Given the description of an element on the screen output the (x, y) to click on. 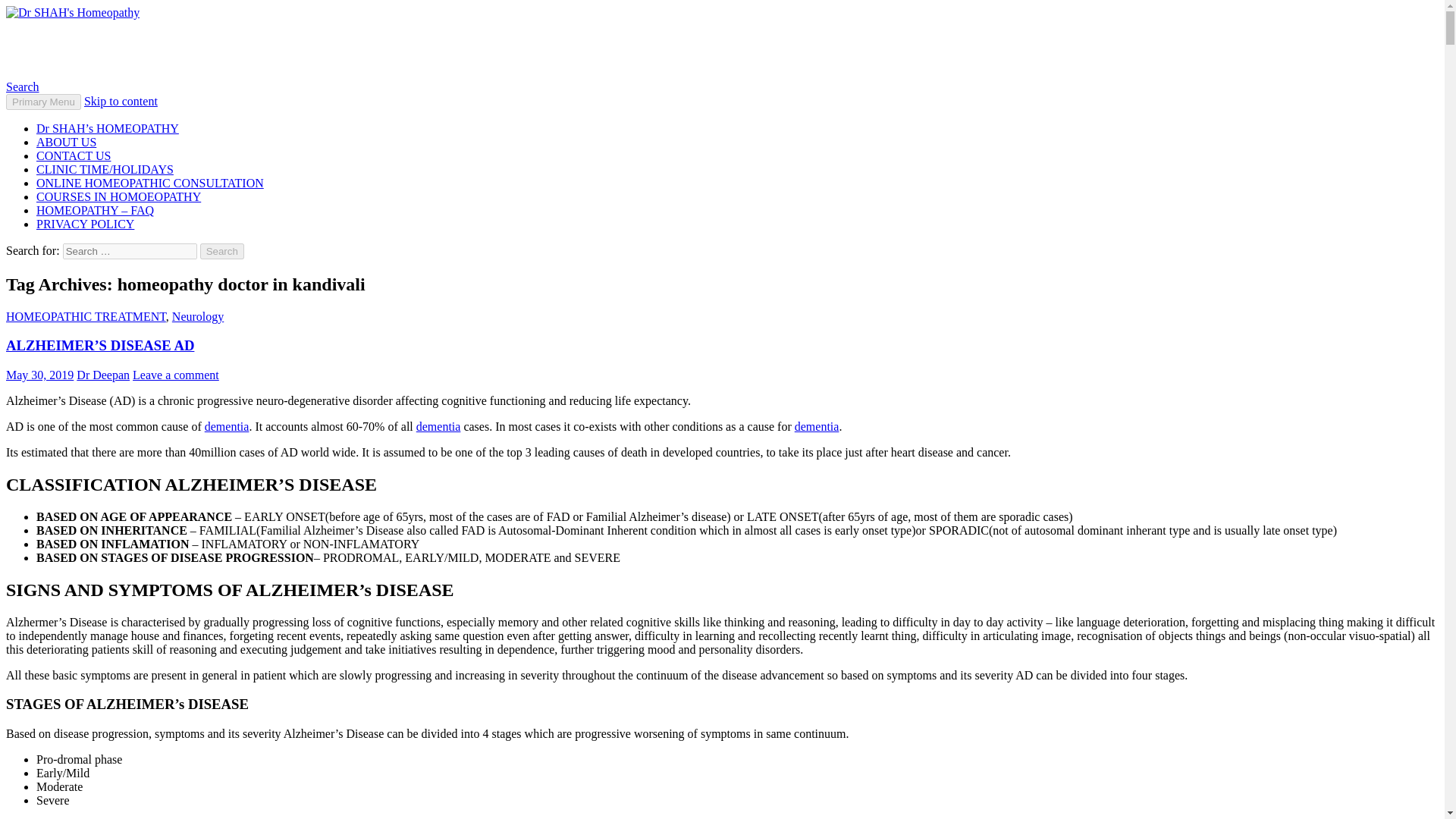
Primary Menu (43, 101)
PRIVACY POLICY (84, 223)
Dr Deepan (103, 374)
dementia (438, 426)
dementia (817, 426)
HOMEOPATHIC TREATMENT (85, 316)
COURSES IN HOMOEOPATHY (118, 196)
Dr SHAH's Homeopathy (134, 49)
ABOUT US (66, 141)
dementia (226, 426)
Skip to content (120, 101)
Search (222, 251)
Neurology (197, 316)
CONTACT US (73, 155)
May 30, 2019 (39, 374)
